Given the description of an element on the screen output the (x, y) to click on. 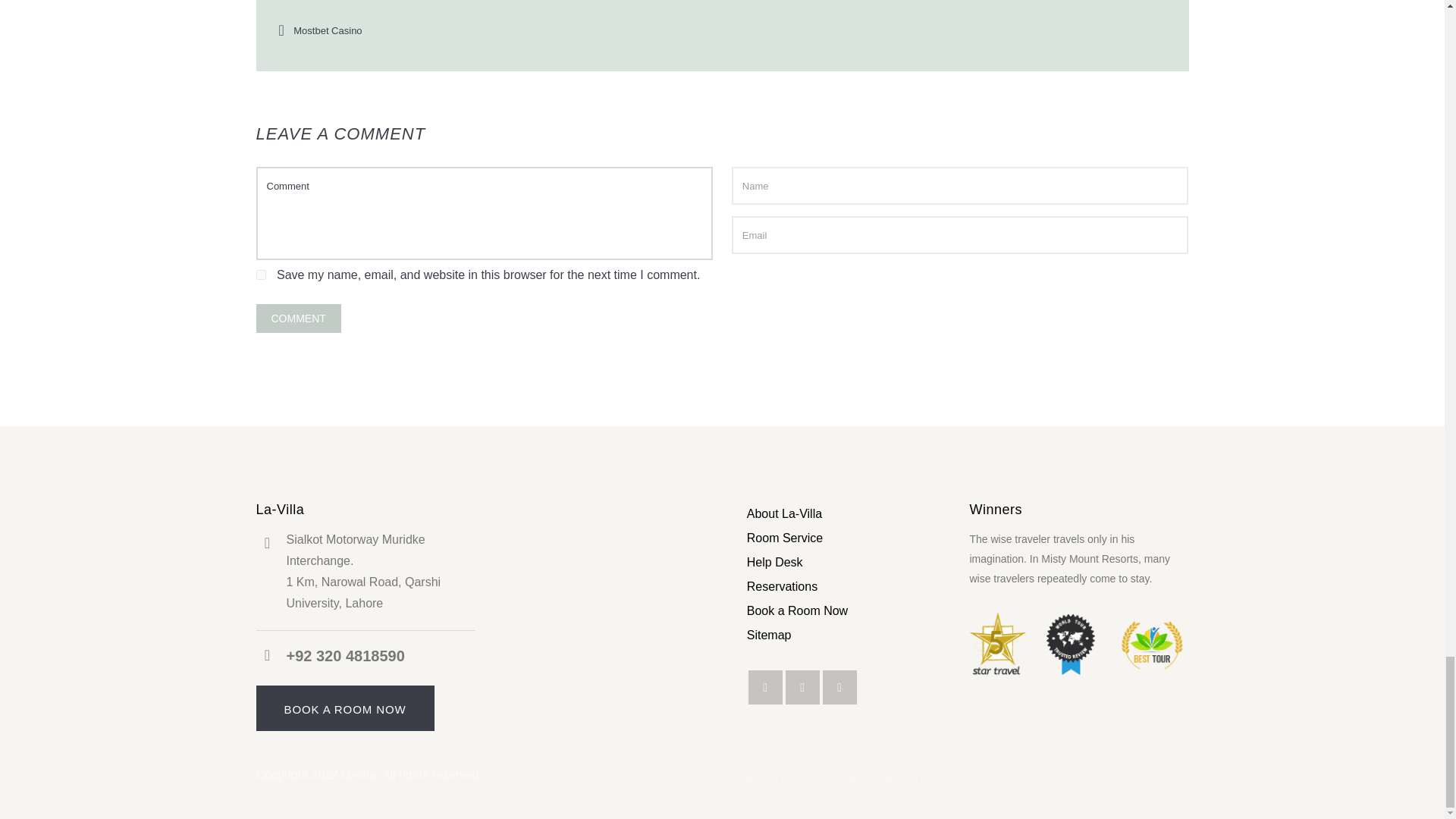
Comment (298, 317)
yes (261, 275)
